Given the description of an element on the screen output the (x, y) to click on. 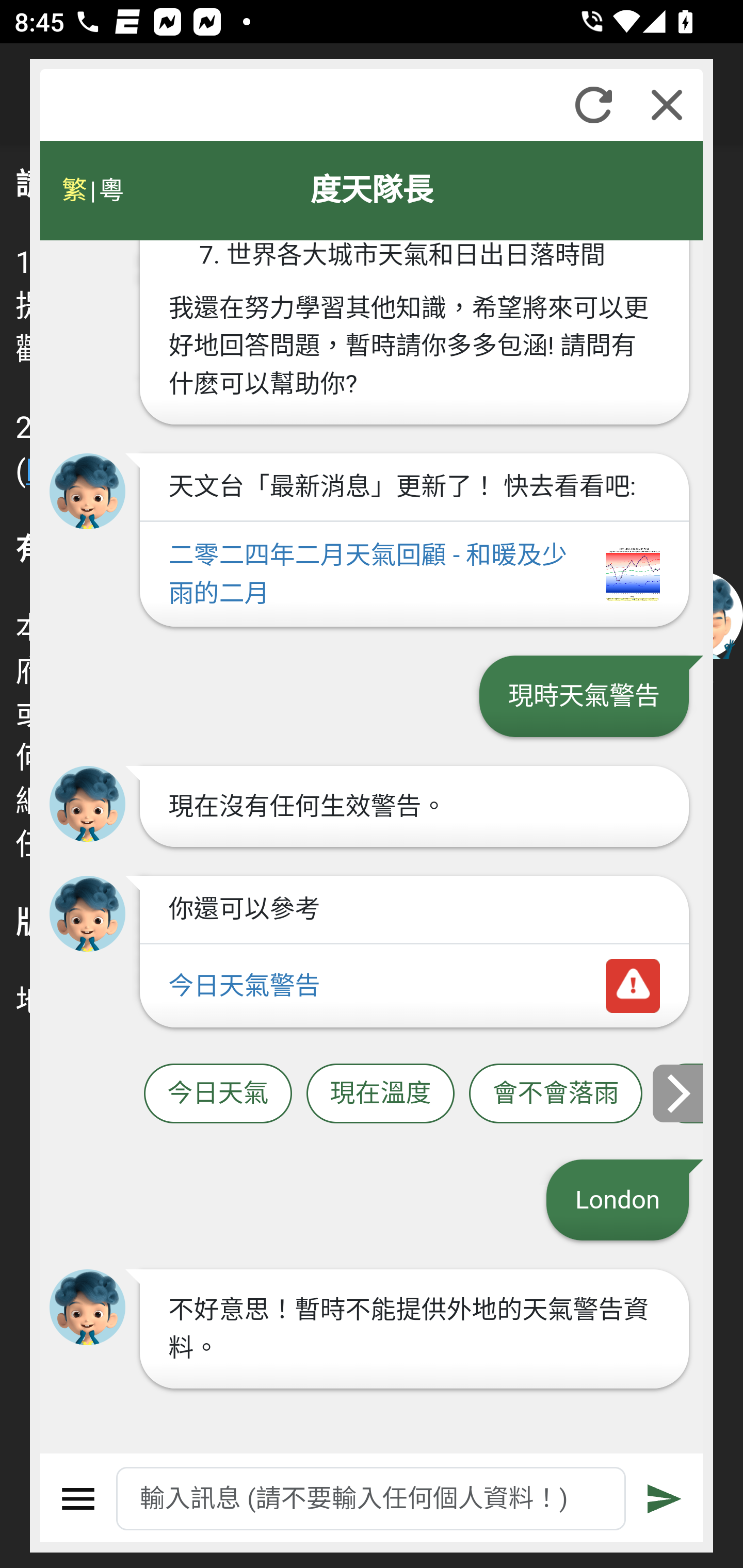
重新整理 (593, 104)
關閉 (666, 104)
繁 (73, 190)
粵 (110, 190)
二零二四年二月天氣回顧 - 和暖及少雨的二月 (413, 575)
今日天氣警告 (413, 985)
今日天氣 (217, 1093)
現在溫度 (380, 1093)
會不會落雨 (555, 1093)
下一張 (678, 1092)
選單 (78, 1498)
遞交 (665, 1498)
